Given the description of an element on the screen output the (x, y) to click on. 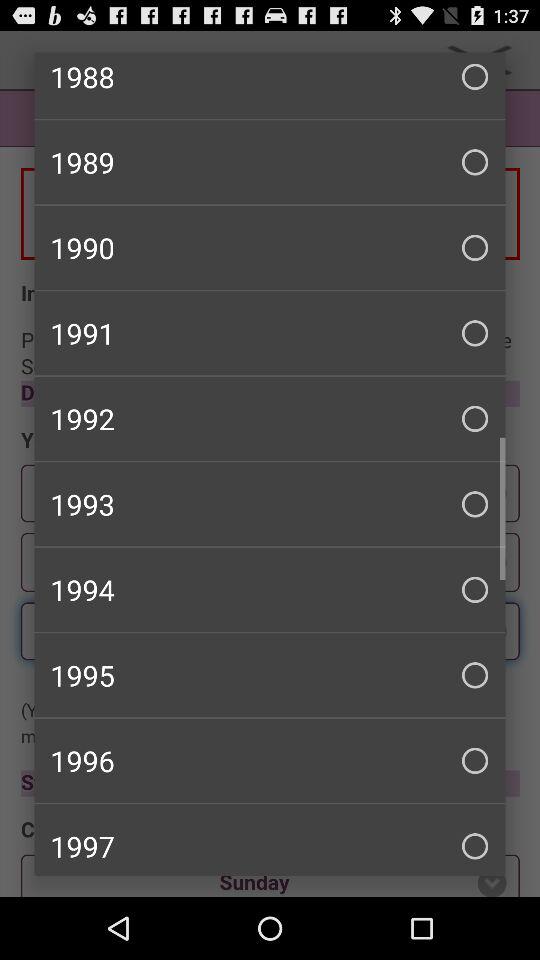
choose 1993 checkbox (269, 504)
